Given the description of an element on the screen output the (x, y) to click on. 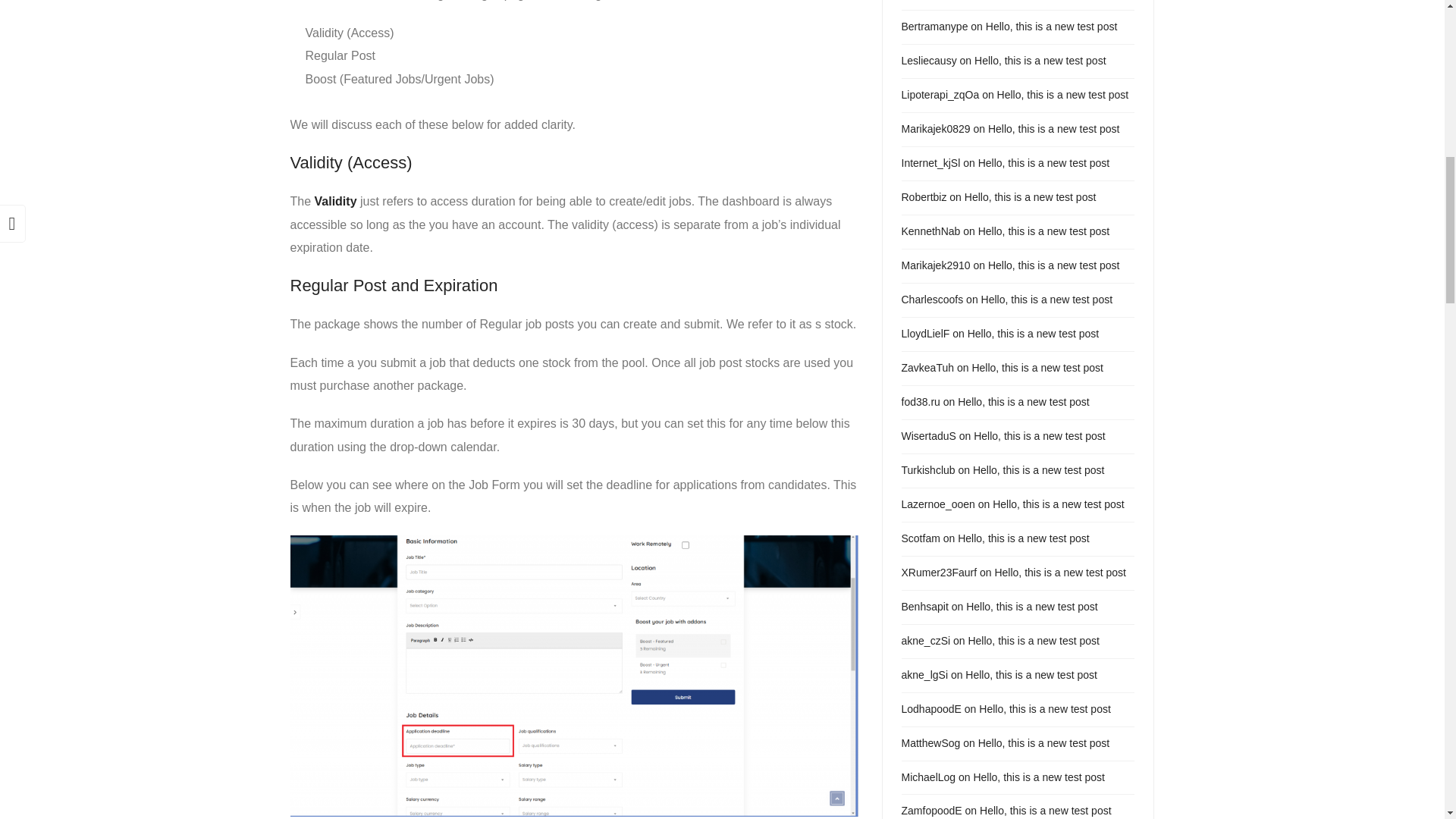
Hello, this is a new test post (1037, 367)
Hello, this is a new test post (1023, 401)
Hello, this is a new test post (1033, 333)
Hello, this is a new test post (1051, 26)
Hello, this is a new test post (1053, 128)
Hello, this is a new test post (1043, 162)
Hello, this is a new test post (1039, 435)
Hello, this is a new test post (1029, 196)
Hello, this is a new test post (1053, 265)
Hello, this is a new test post (1047, 299)
Hello, this is a new test post (1040, 60)
Hello, this is a new test post (1063, 94)
Hello, this is a new test post (1043, 231)
